Given the description of an element on the screen output the (x, y) to click on. 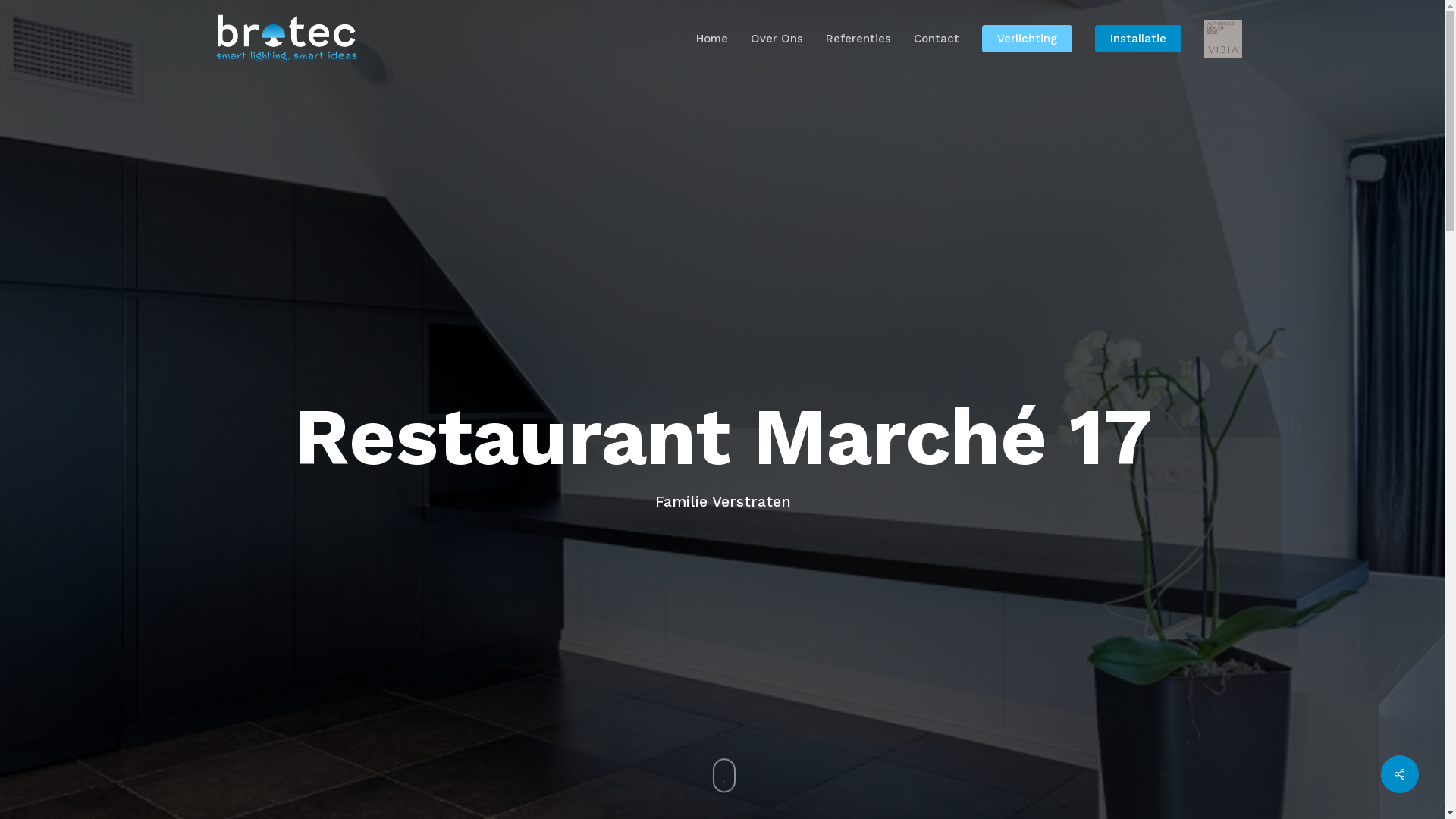
Referenties Element type: text (857, 38)
Home Element type: text (712, 38)
Verlichting Element type: text (1026, 38)
Over Ons Element type: text (776, 38)
Contact Element type: text (935, 38)
Installatie Element type: text (1138, 38)
